Given the description of an element on the screen output the (x, y) to click on. 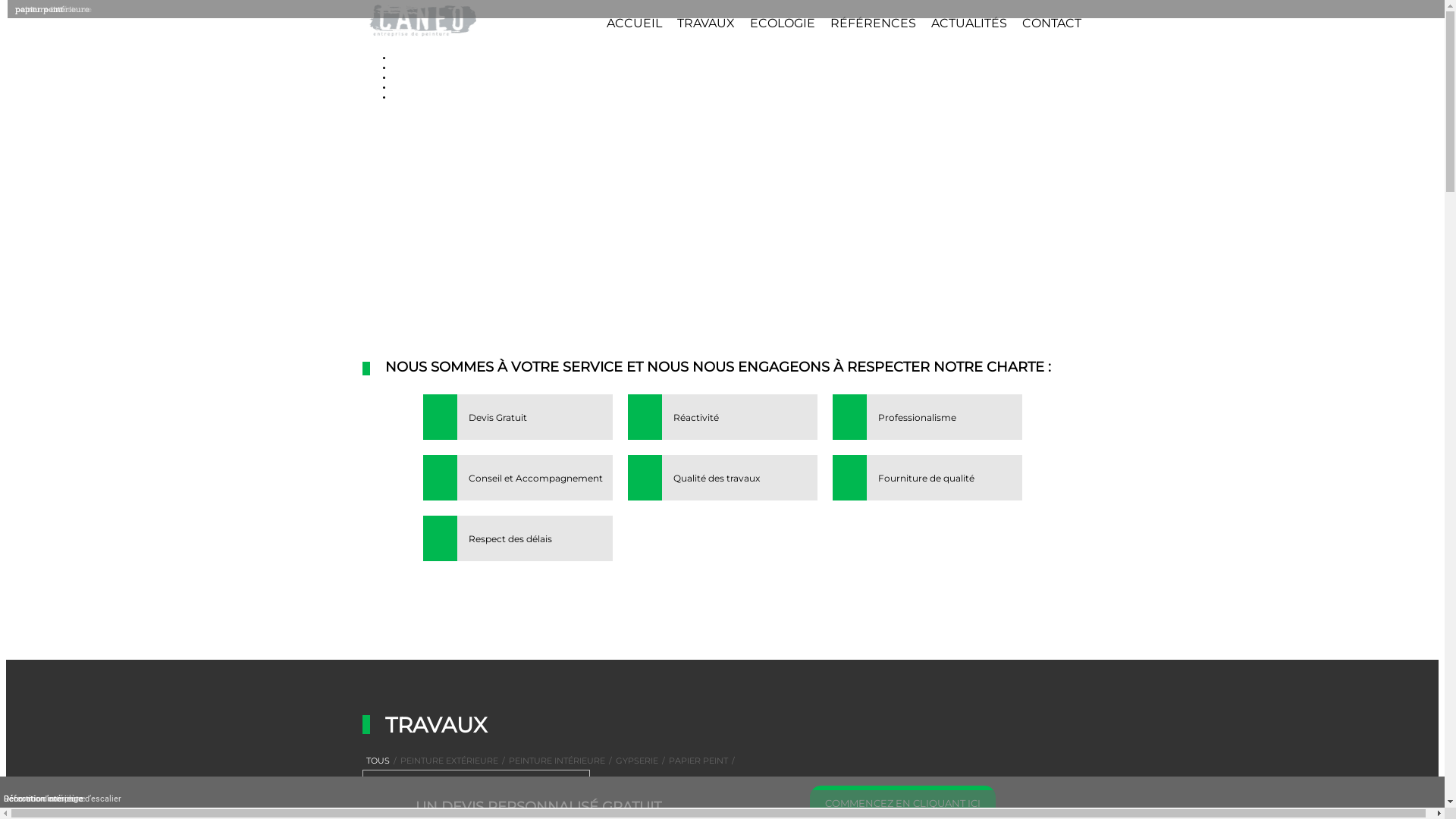
PAPIER PEINT Element type: text (697, 760)
ECOLOGIE Element type: text (781, 22)
TRAVAUX Element type: text (705, 22)
TOUS Element type: text (377, 760)
GYPSERIE Element type: text (636, 760)
CONTACT Element type: text (1051, 22)
ACCUEIL Element type: text (634, 22)
